Given the description of an element on the screen output the (x, y) to click on. 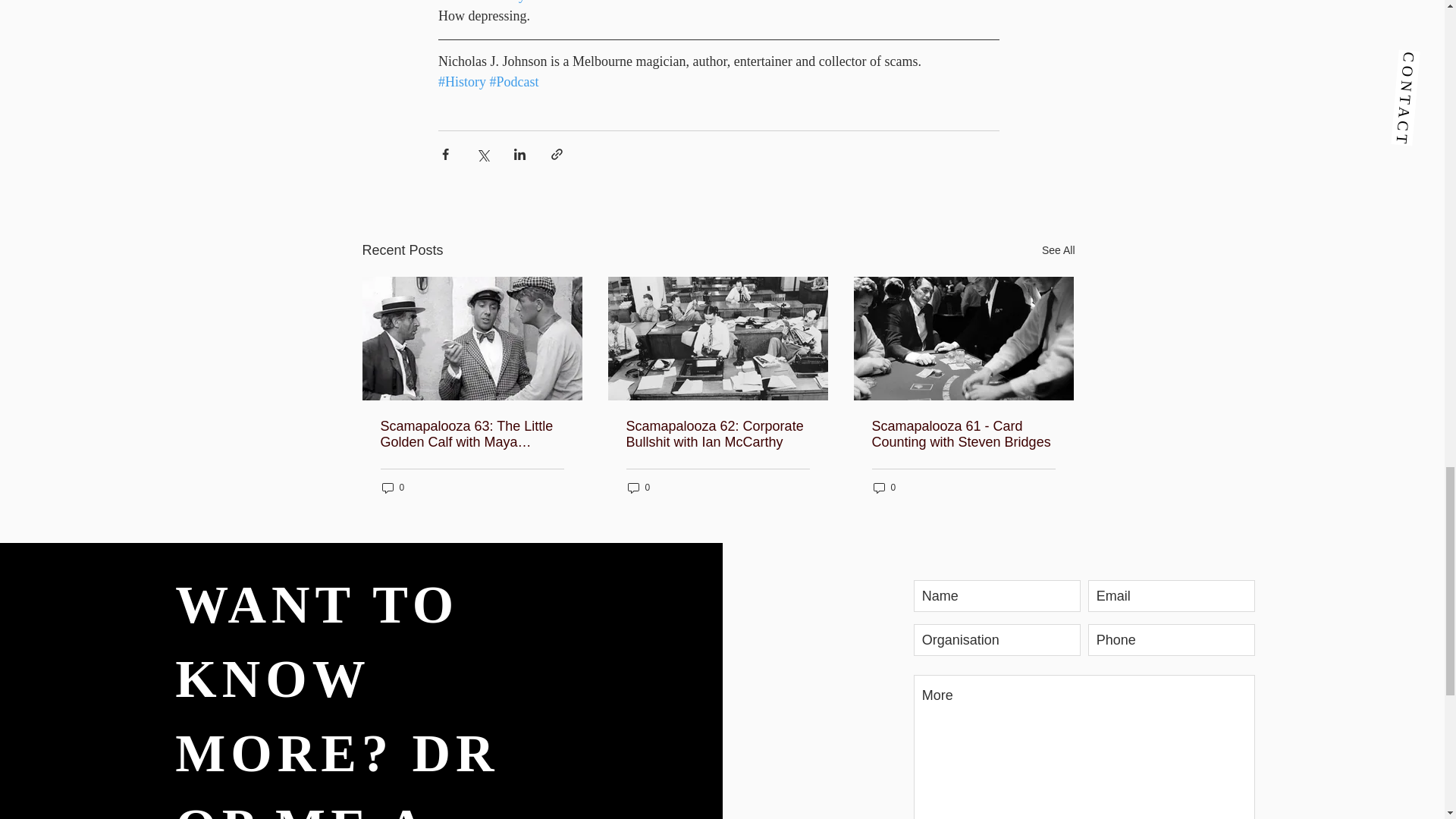
0 (885, 487)
0 (393, 487)
See All (1058, 250)
Scamapalooza 61 - Card Counting with Steven Bridges (963, 434)
Scamapalooza 63: The Little Golden Calf with Maya Vinokour (472, 434)
satire for reality. (482, 1)
0 (639, 487)
Scamapalooza 62: Corporate Bullshit with Ian McCarthy (717, 434)
